Given the description of an element on the screen output the (x, y) to click on. 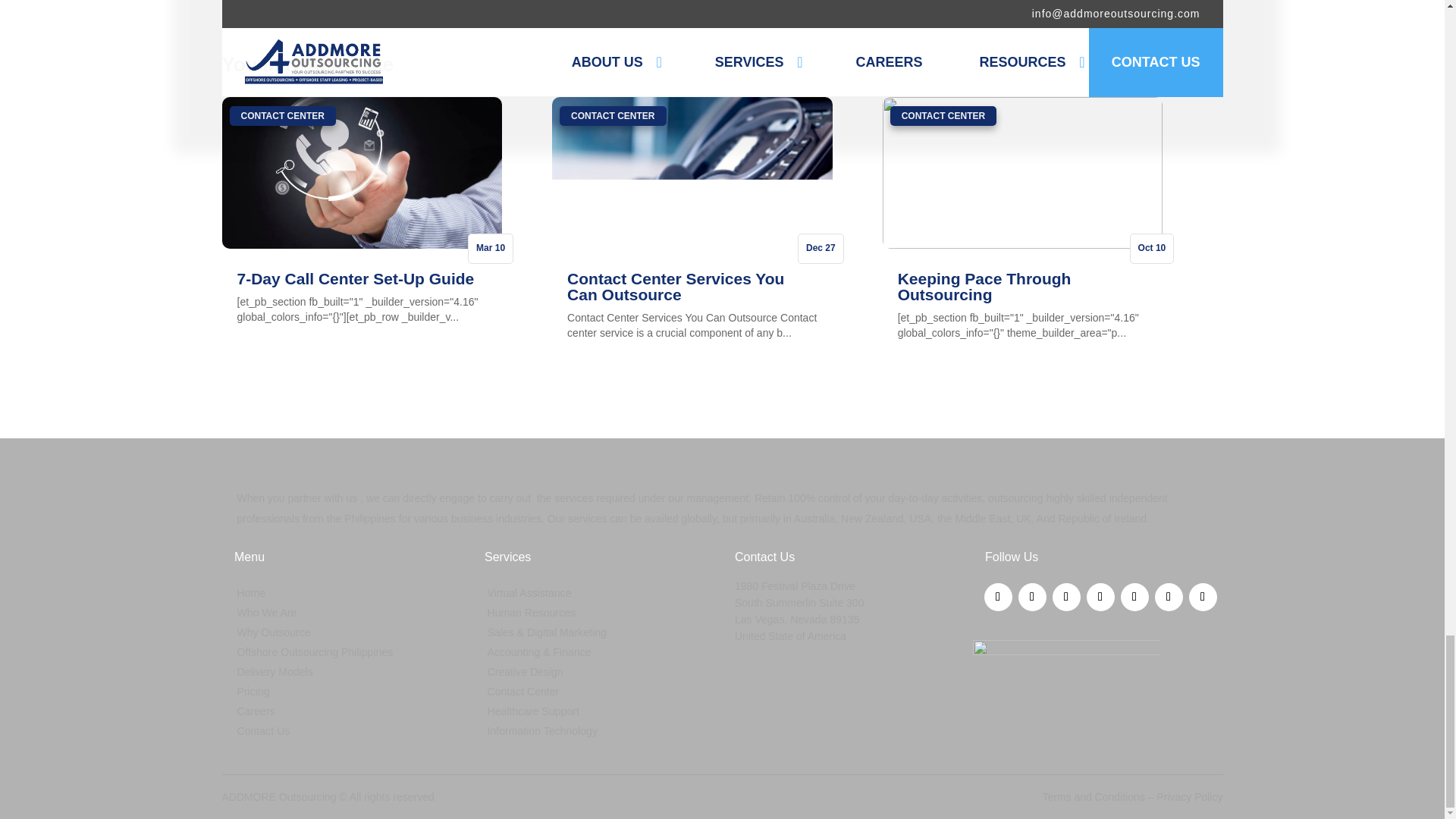
Follow on TikTok (1168, 596)
Follow on X (1031, 596)
Follow on Facebook (997, 596)
Follow on Pinterest (1203, 596)
Follow on Instagram (1099, 596)
Follow on Youtube (1134, 596)
Follow on LinkedIn (1066, 596)
